Given the description of an element on the screen output the (x, y) to click on. 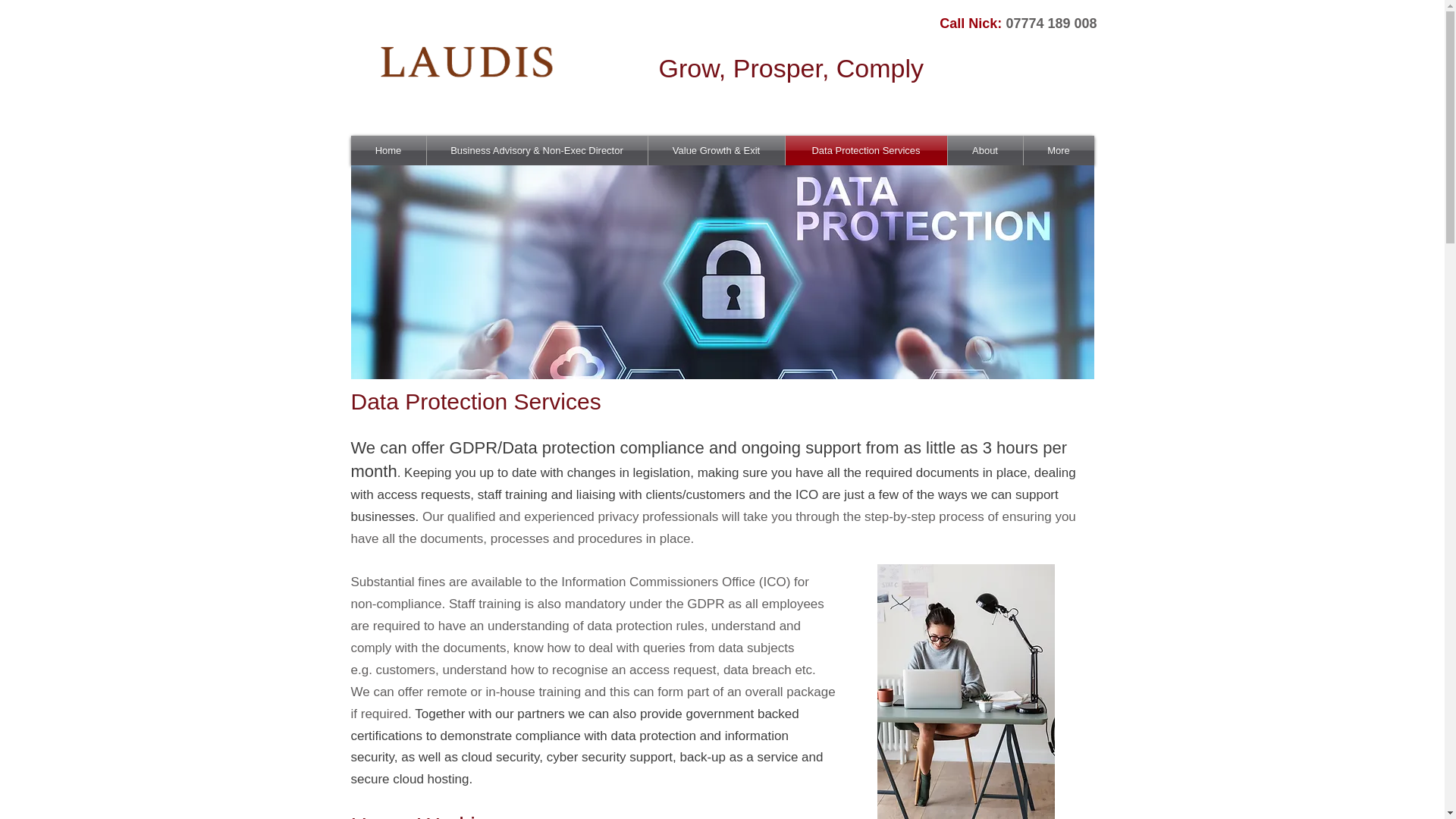
About (985, 150)
Data Protection Services (866, 150)
Call Nick: 07774 189 008 (1017, 23)
Home (387, 150)
